Given the description of an element on the screen output the (x, y) to click on. 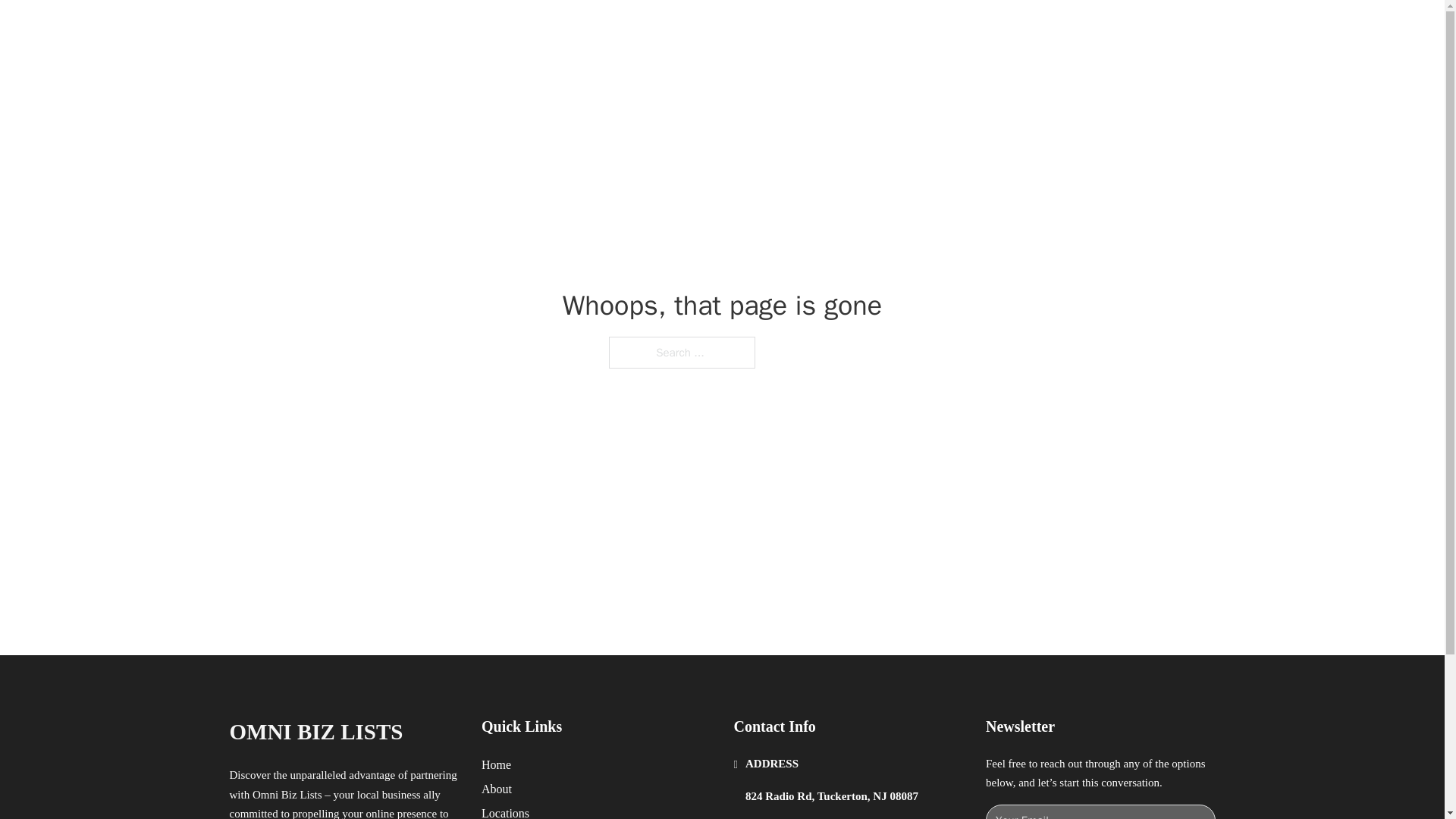
About (496, 788)
Locations (505, 811)
LOCATIONS (990, 29)
HOME (919, 29)
OMNI BIZ LISTS (315, 732)
OMNI BIZ LISTS (390, 28)
Home (496, 764)
